Given the description of an element on the screen output the (x, y) to click on. 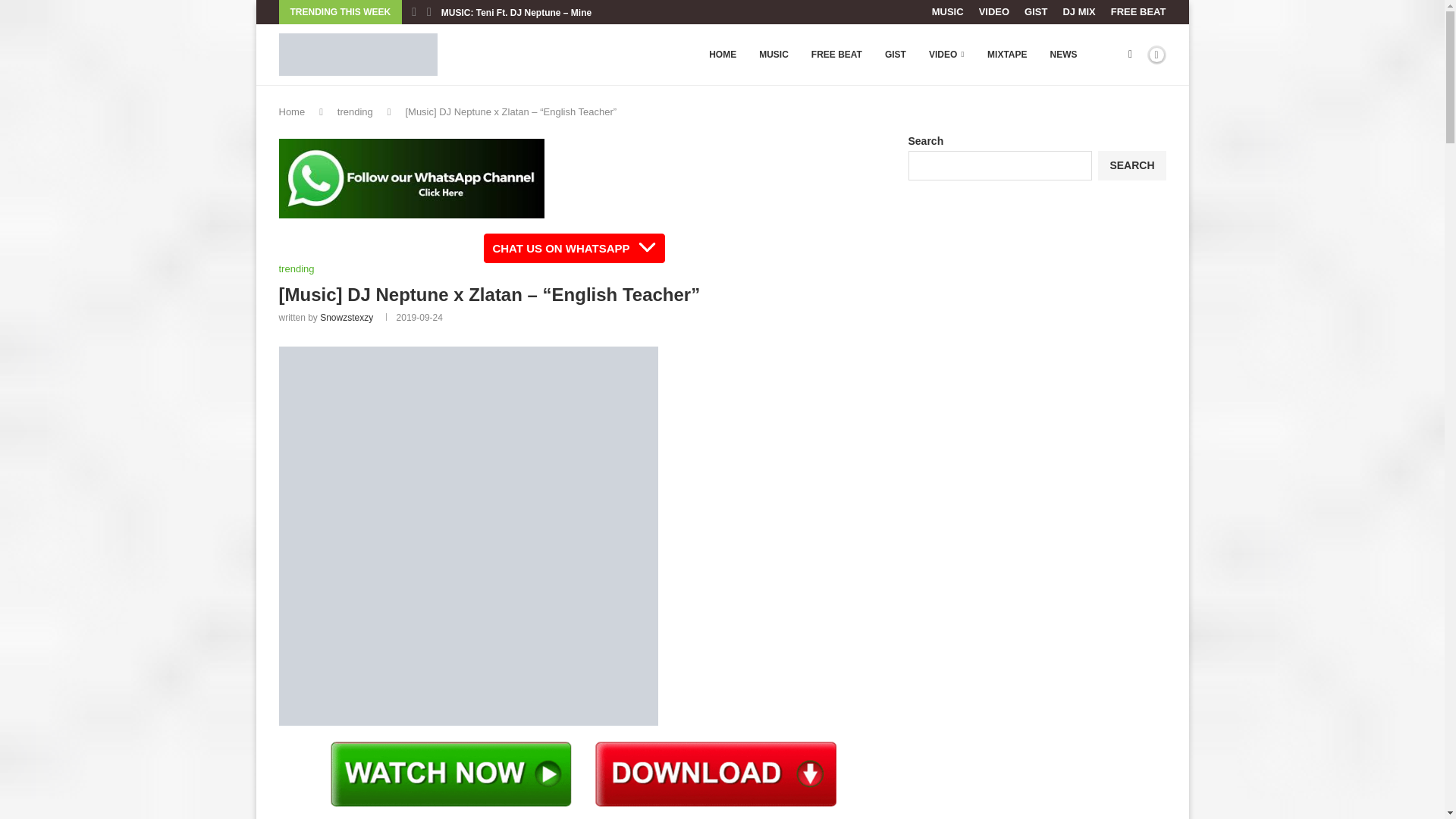
MIXTAPE (1006, 54)
trending (354, 111)
VIDEO (993, 12)
FREE BEAT (836, 54)
FREE BEAT (1138, 12)
Snowzstexzy (346, 317)
GIST (1035, 12)
trending (296, 268)
MUSIC (947, 12)
DJ MIX (1078, 12)
